Given the description of an element on the screen output the (x, y) to click on. 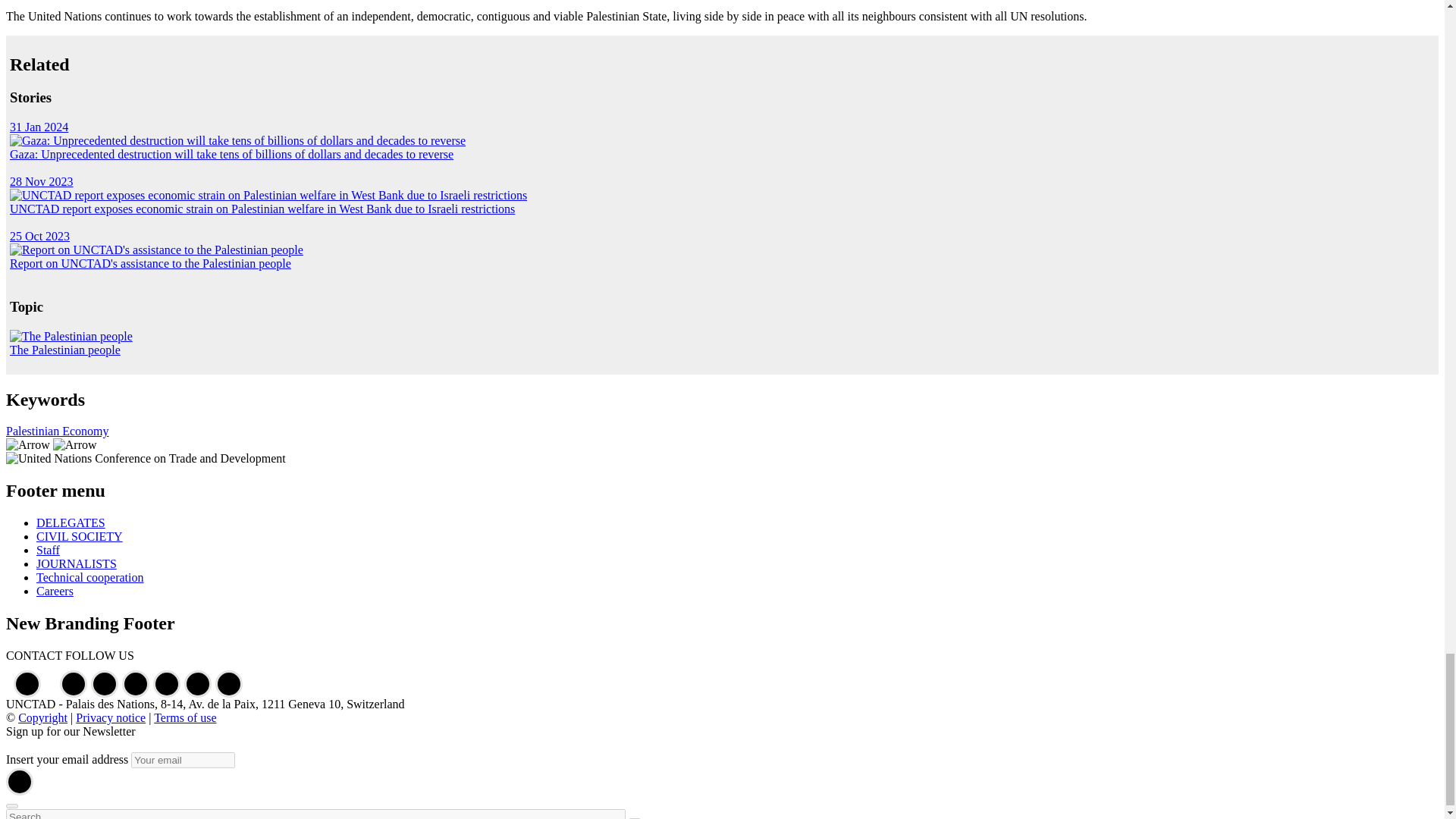
Enter your email address (182, 760)
